Given the description of an element on the screen output the (x, y) to click on. 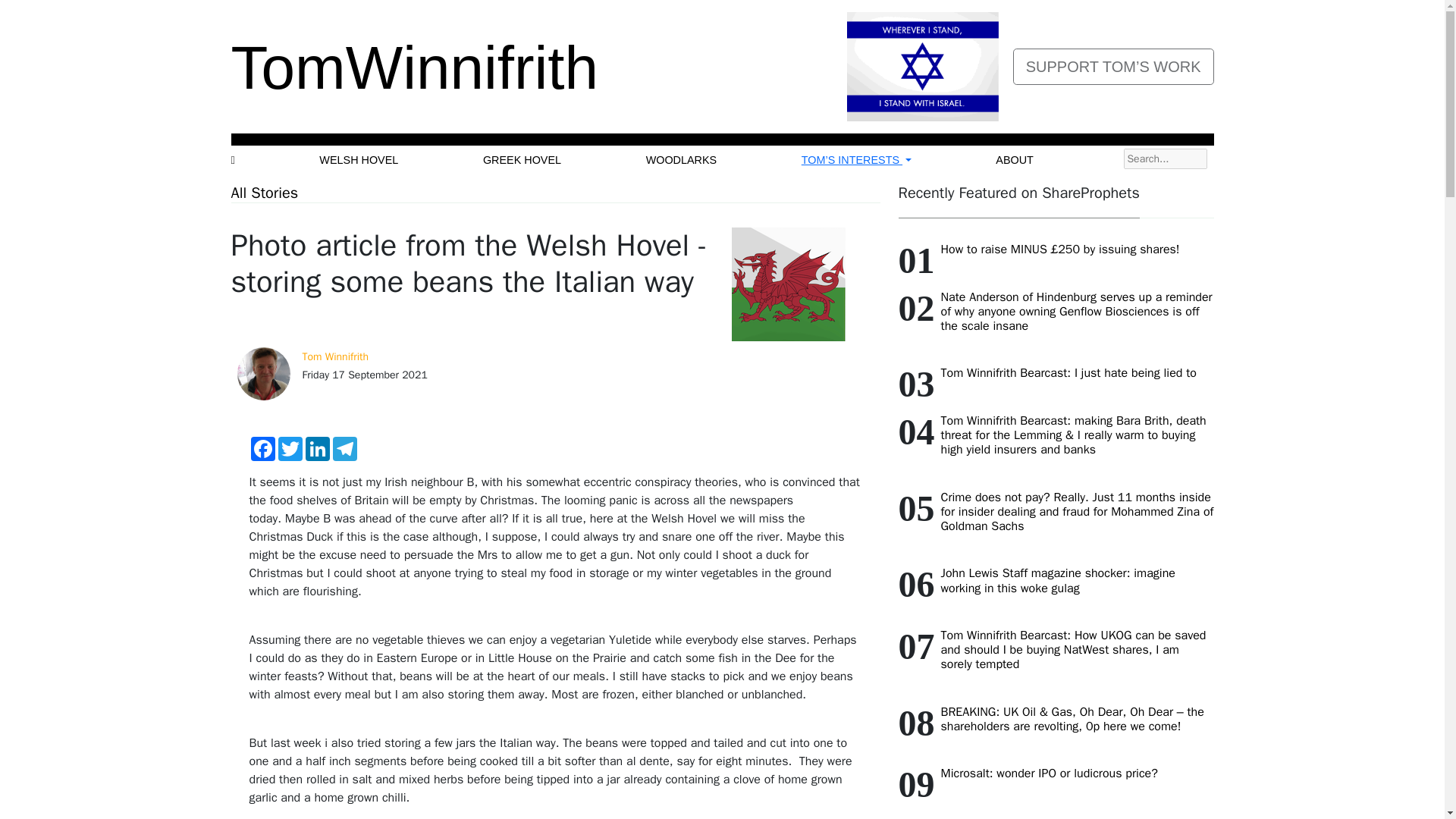
WOODLARKS (681, 160)
All Stories (264, 192)
Tom Winnifrith Bearcast: I just hate being lied to (1068, 372)
WELSH HOVEL (357, 160)
Telegram (344, 448)
LinkedIn (316, 448)
